Given the description of an element on the screen output the (x, y) to click on. 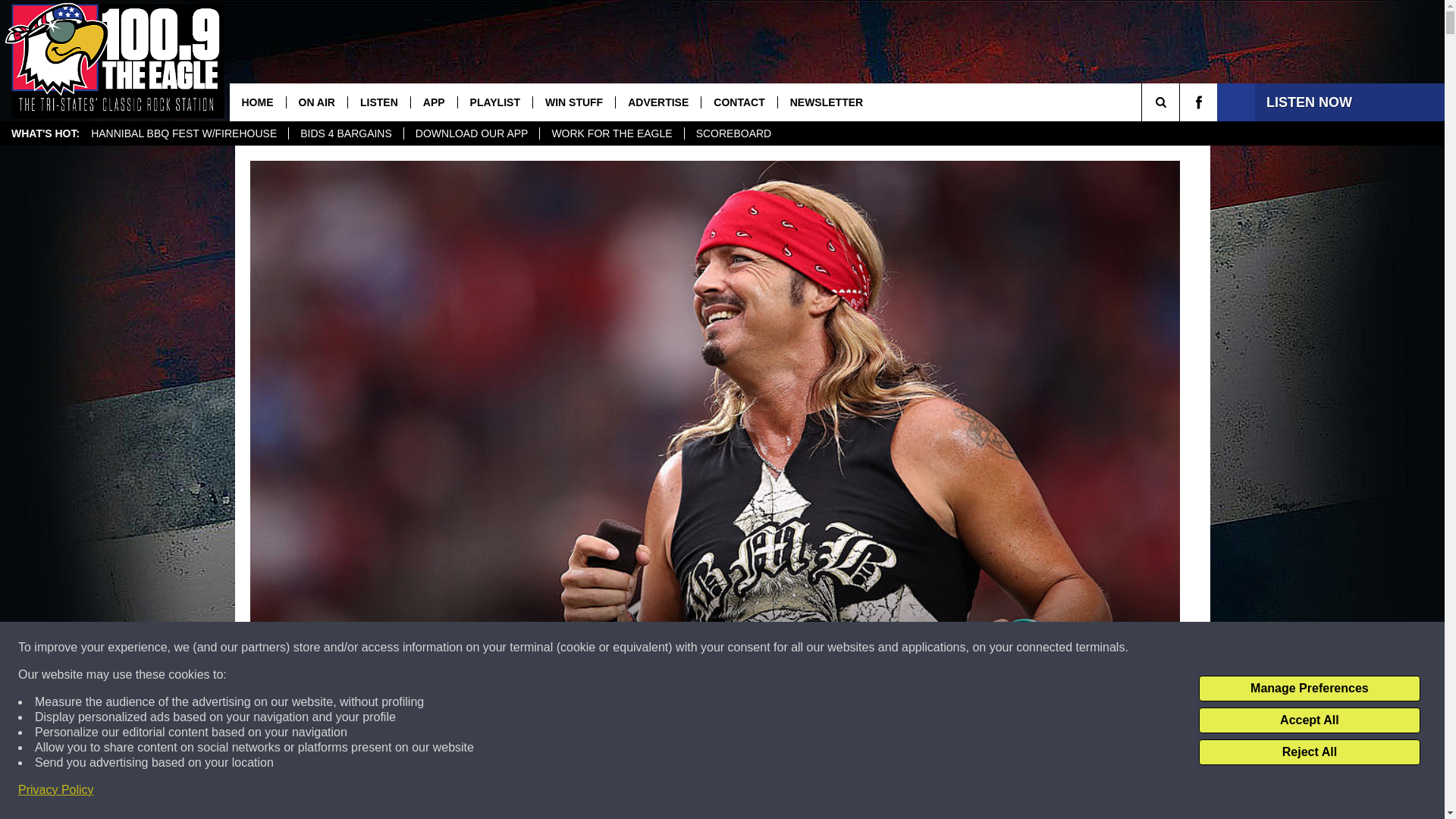
APP (433, 102)
PLAYLIST (494, 102)
SEARCH (1182, 102)
CONTACT (738, 102)
Reject All (1309, 751)
Accept All (1309, 720)
WORK FOR THE EAGLE (610, 133)
Share on Facebook (517, 791)
Share on Twitter (912, 791)
Manage Preferences (1309, 688)
ADVERTISE (657, 102)
BIDS 4 BARGAINS (345, 133)
Privacy Policy (55, 789)
ON AIR (315, 102)
SEARCH (1182, 102)
